Given the description of an element on the screen output the (x, y) to click on. 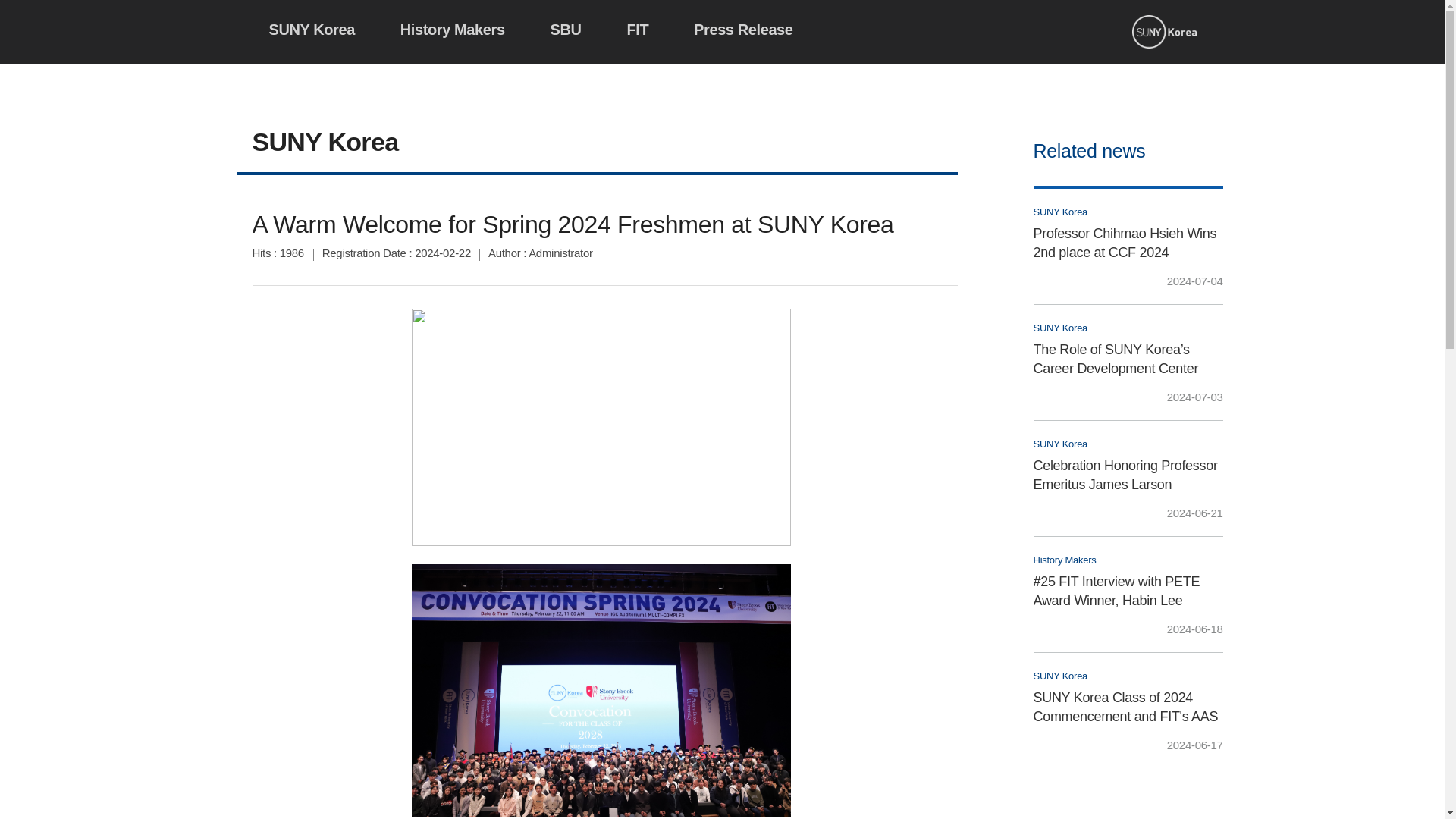
SUNY Korea (311, 27)
History Makers (452, 27)
FIT (637, 27)
SBU (565, 27)
Press Release (743, 27)
